Given the description of an element on the screen output the (x, y) to click on. 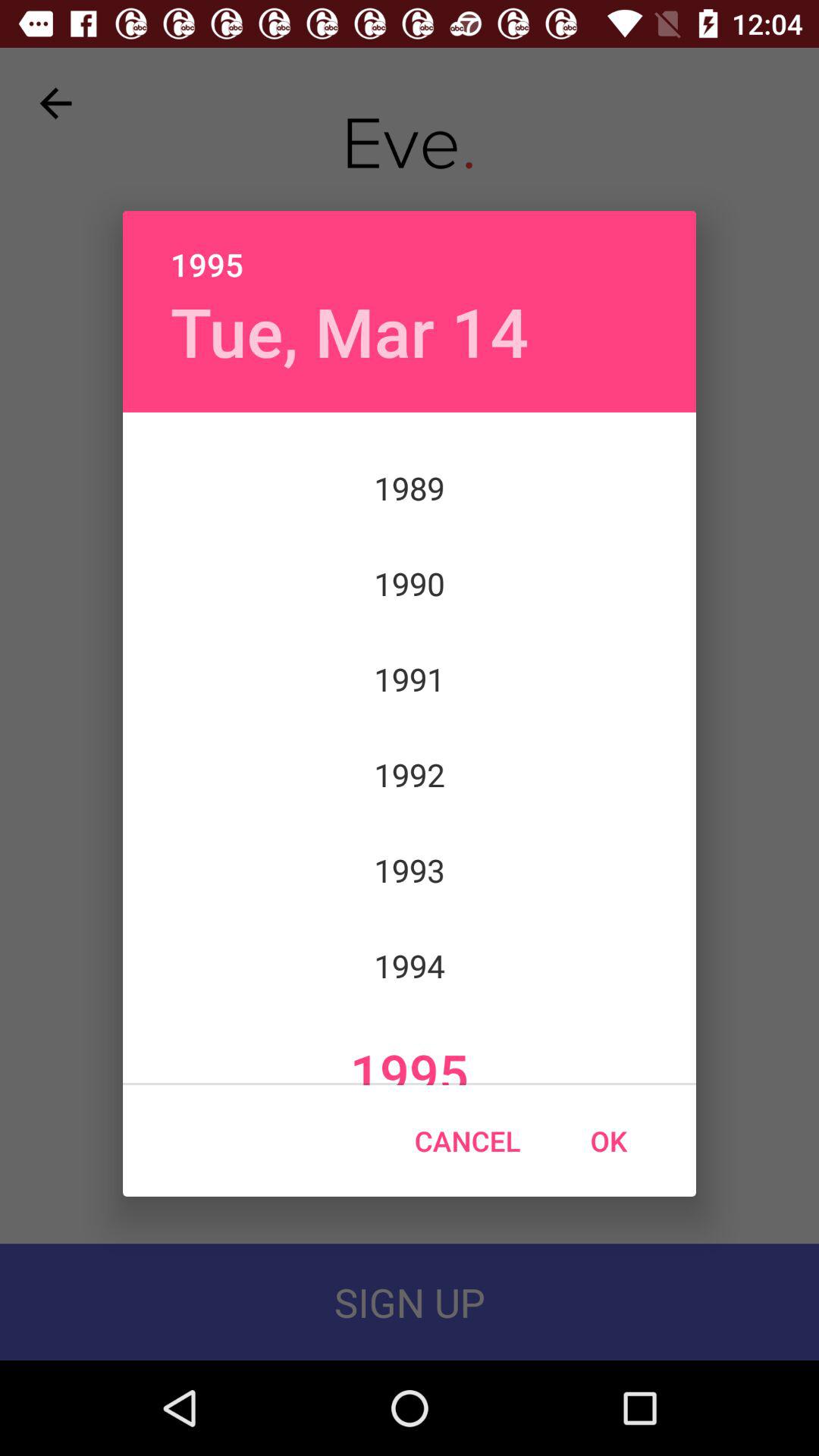
launch the icon next to the ok item (467, 1140)
